Given the description of an element on the screen output the (x, y) to click on. 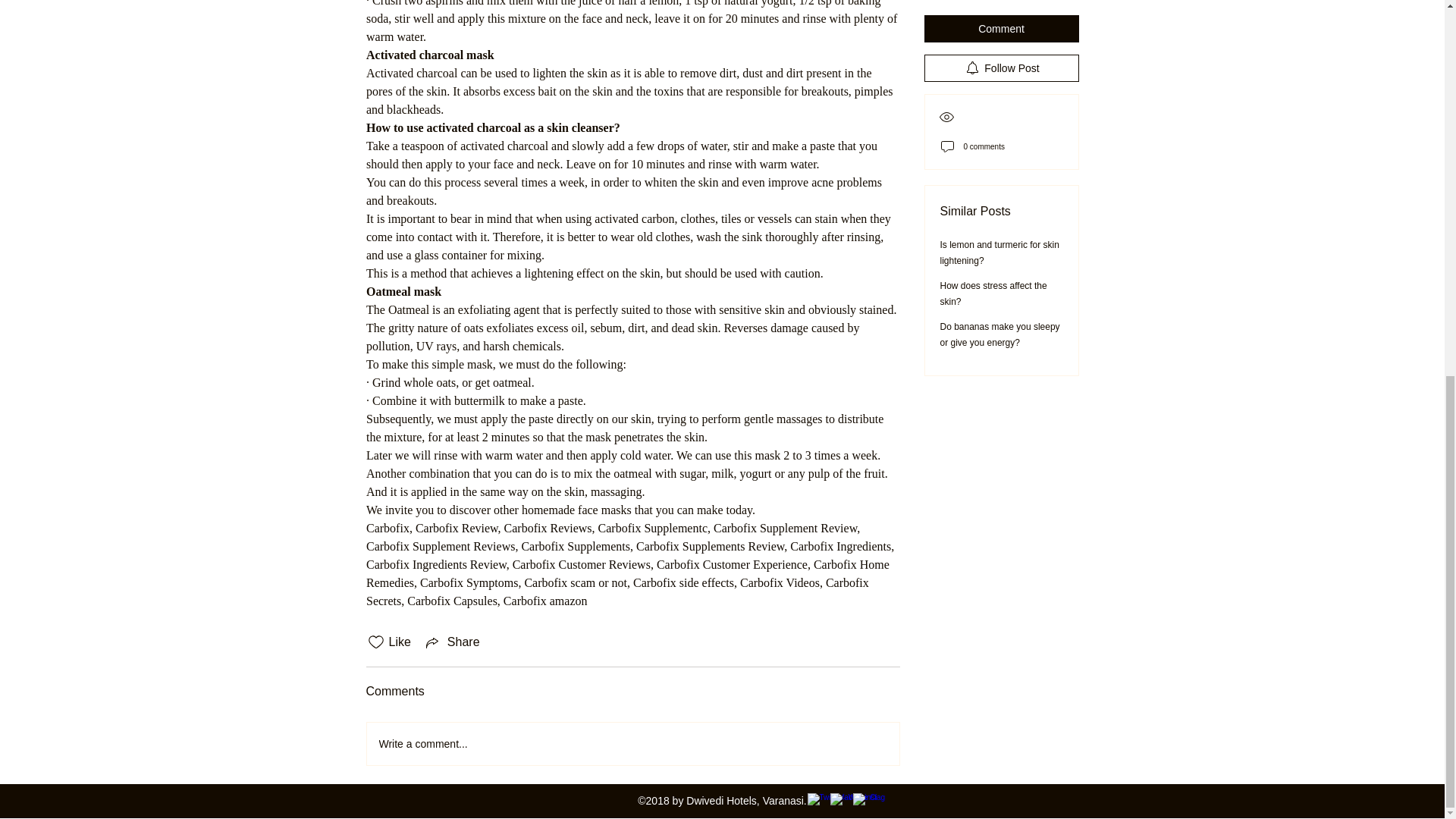
Carbofix Supplement (648, 527)
Carbofix Review (455, 527)
Carbofix Reviews (547, 527)
Carbofix (387, 527)
Carbofix Supplement Review (784, 527)
